Given the description of an element on the screen output the (x, y) to click on. 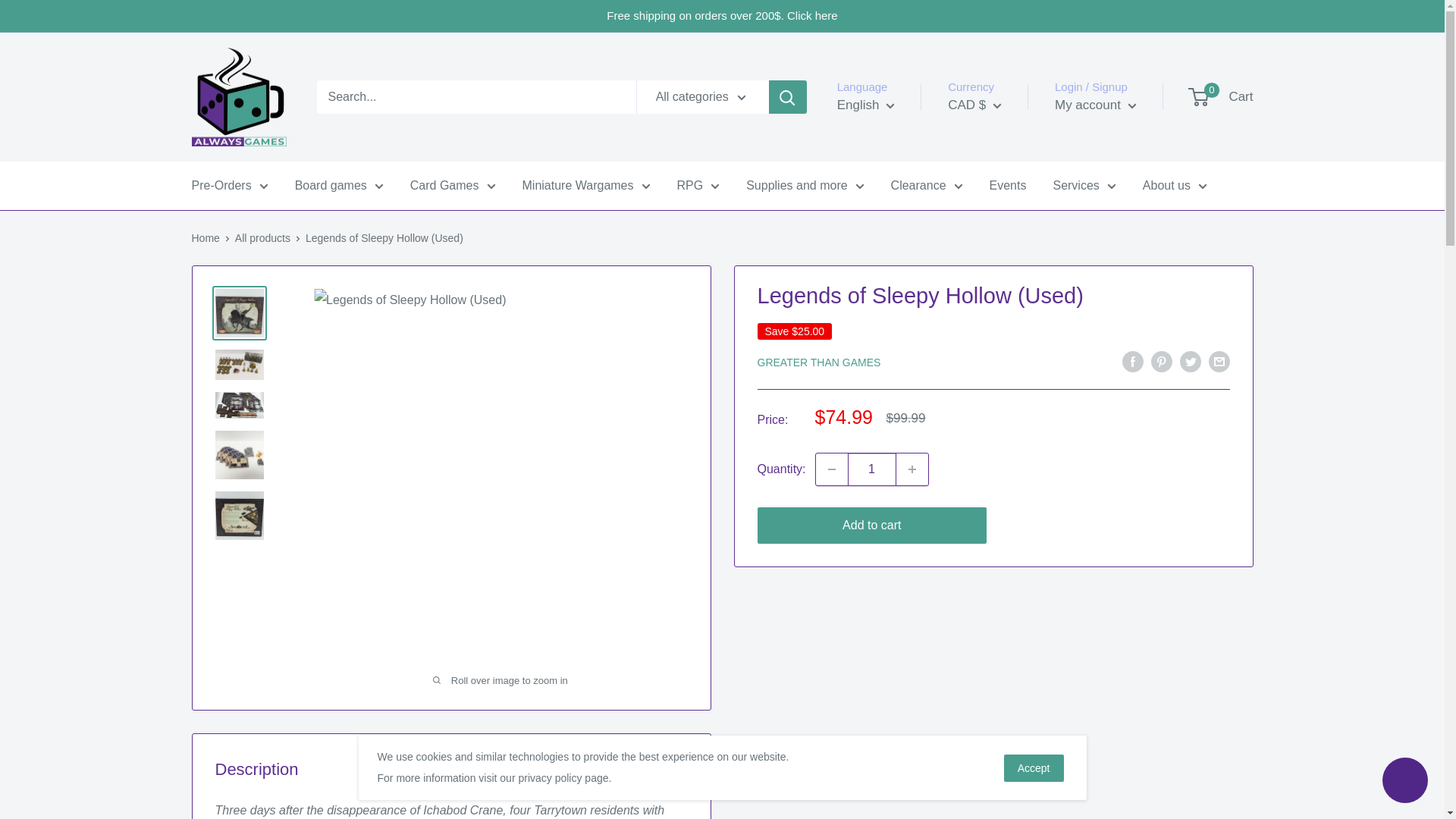
1 (871, 469)
Shopify online store chat (1404, 781)
Increase quantity by 1 (912, 469)
Decrease quantity by 1 (831, 469)
